Given the description of an element on the screen output the (x, y) to click on. 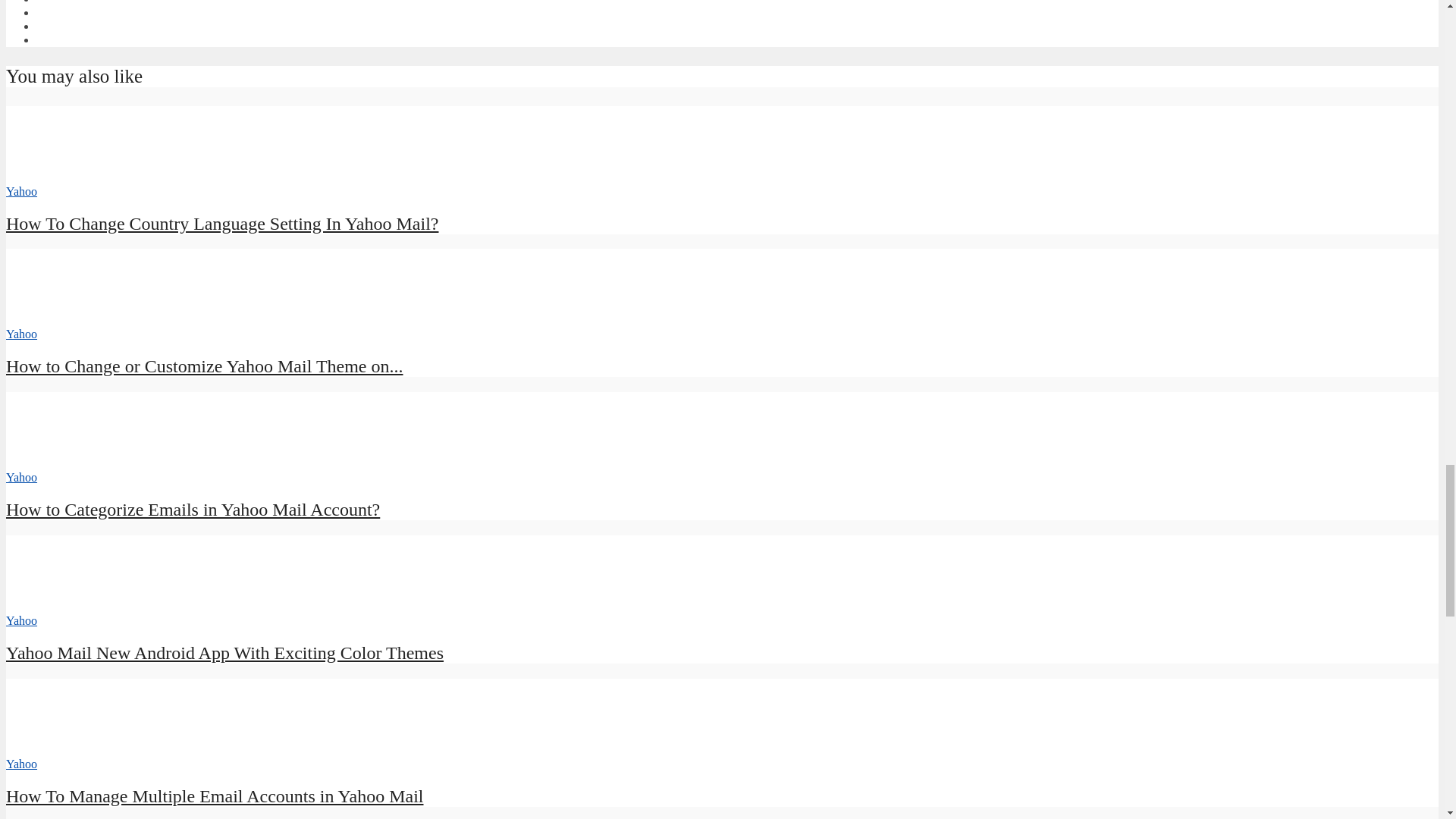
Yahoo Mail New Android App With Exciting Color Themes (224, 652)
How To Change Country Language Setting In Yahoo Mail? (60, 177)
How To Manage Multiple Email Accounts in Yahoo Mail (60, 749)
Yahoo Mail New Android App With Exciting Color Themes (60, 606)
How To Change Country Language Setting In Yahoo Mail? (221, 223)
How to Categorize Emails in Yahoo Mail Account? (60, 463)
How To Manage Multiple Email Accounts in Yahoo Mail (214, 795)
How to Categorize Emails in Yahoo Mail Account? (192, 509)
